Given the description of an element on the screen output the (x, y) to click on. 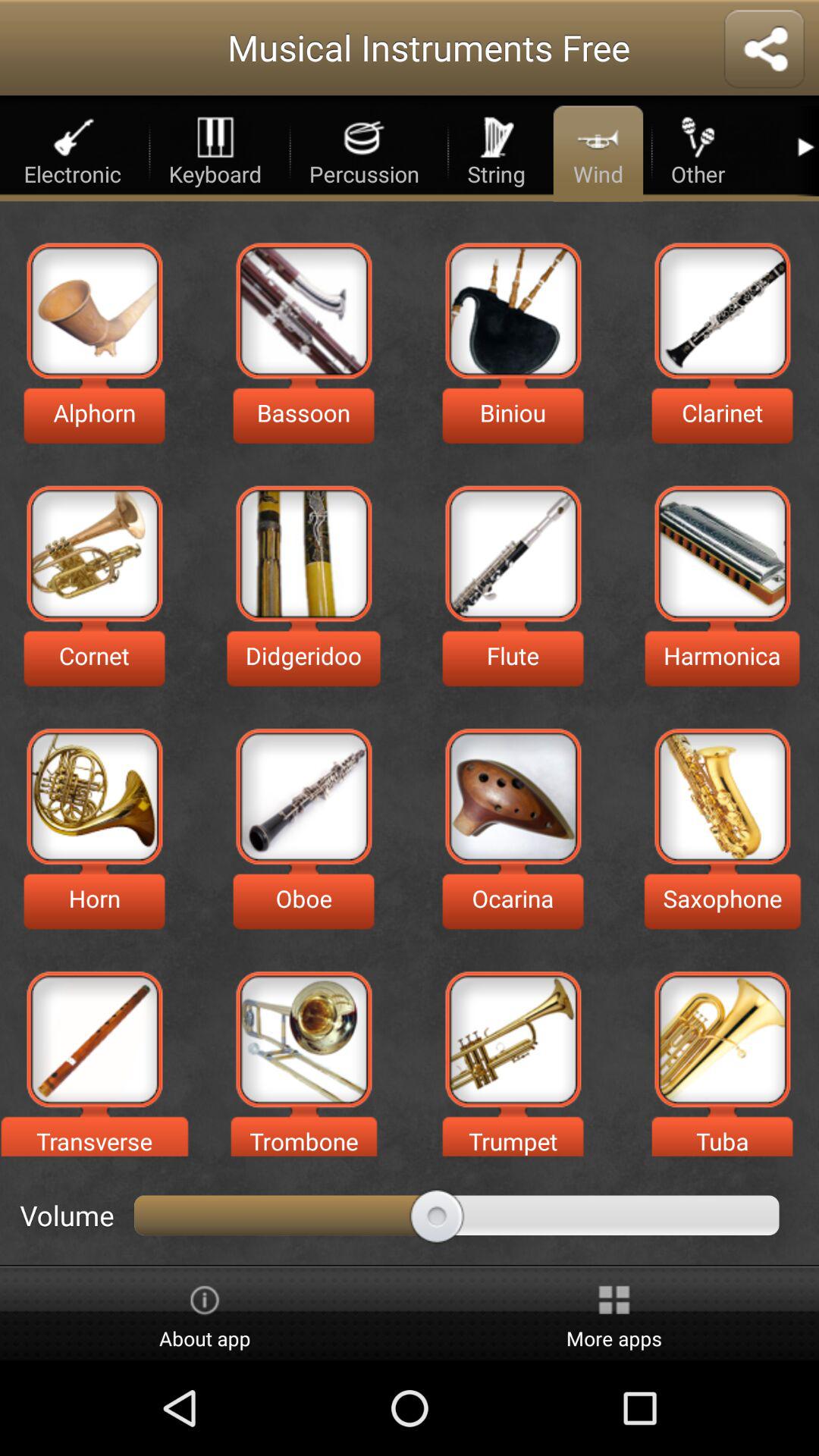
play cornet sound (94, 553)
